Given the description of an element on the screen output the (x, y) to click on. 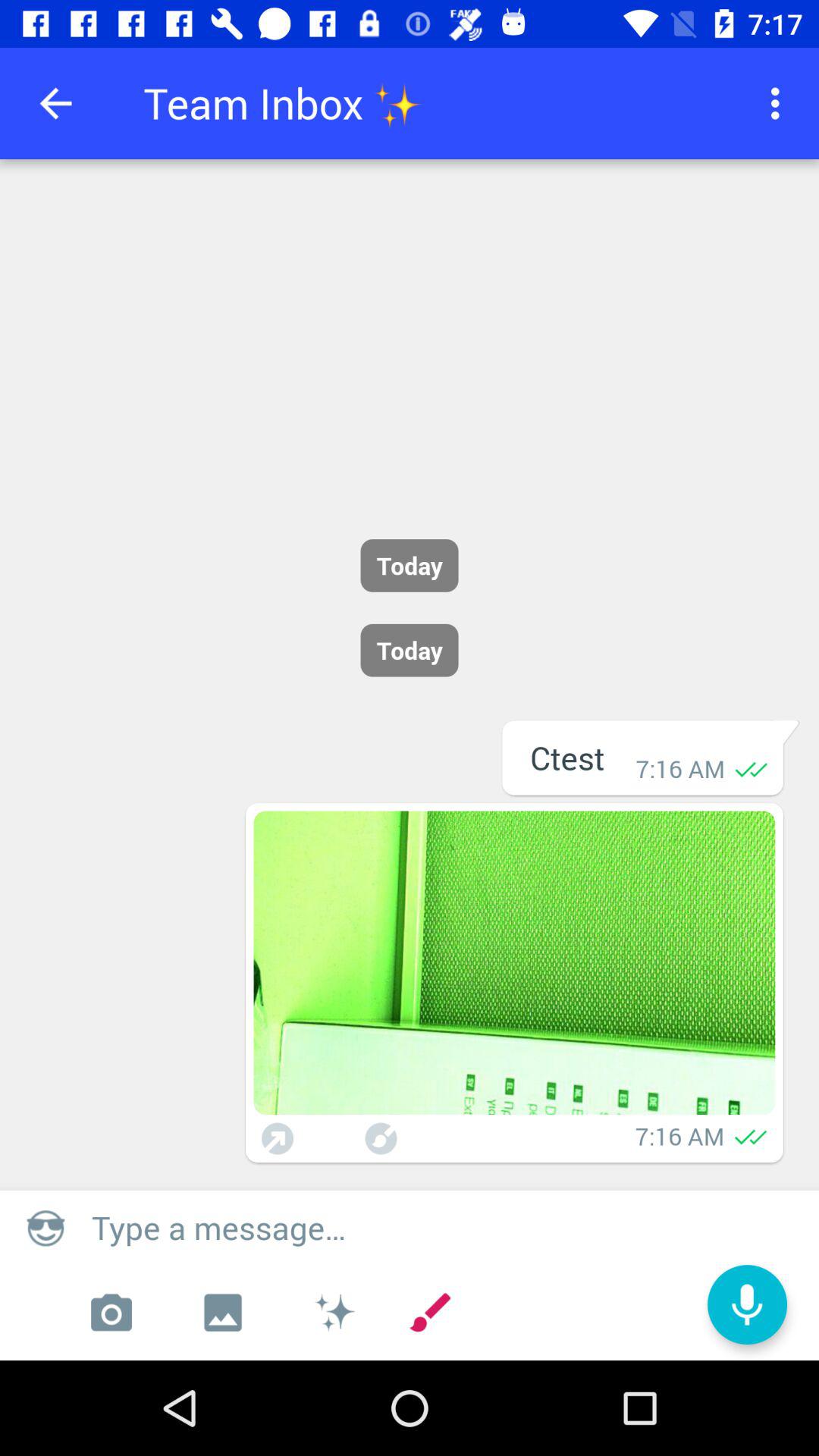
minimize image (380, 1138)
